Given the description of an element on the screen output the (x, y) to click on. 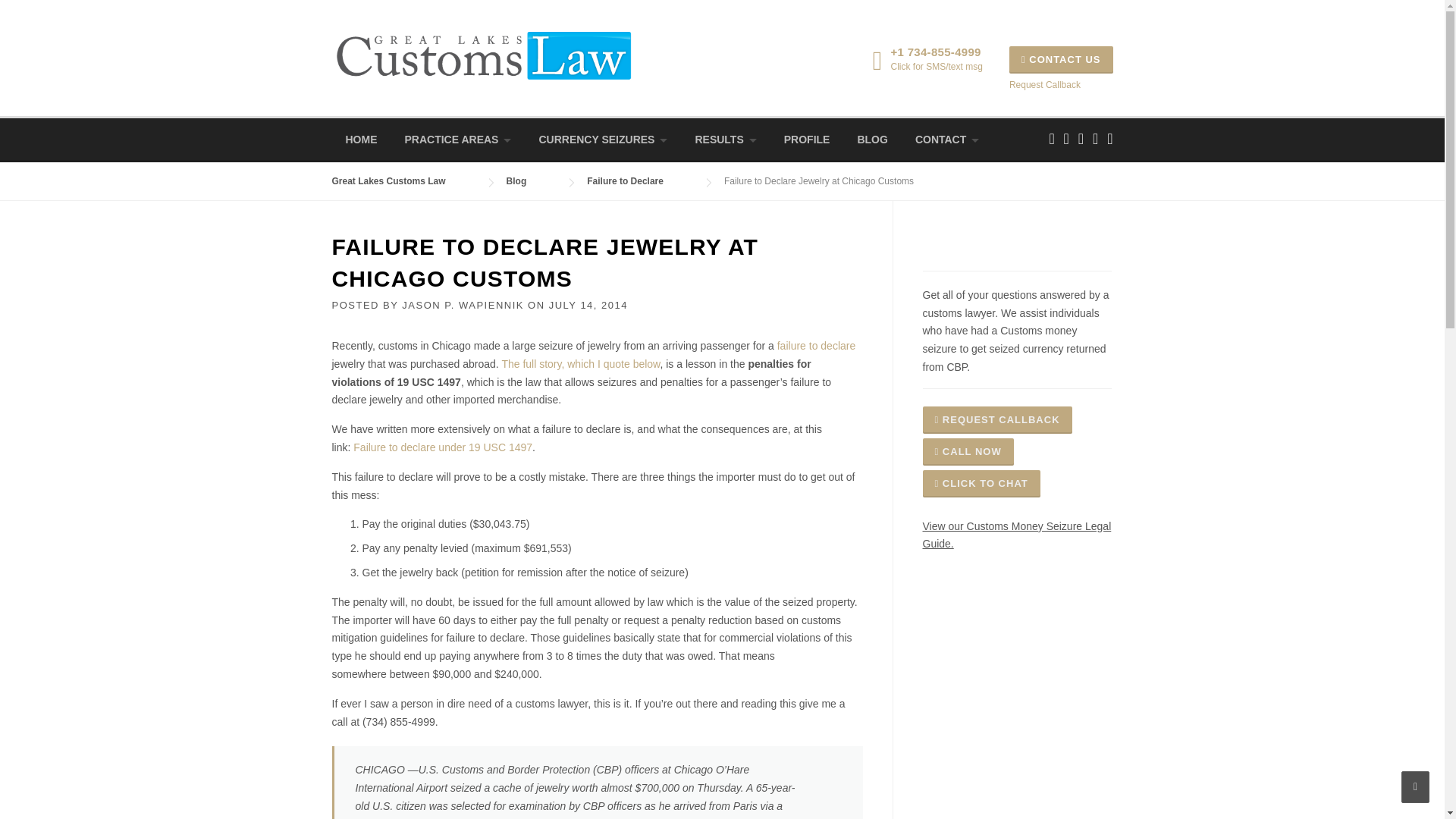
Go to Blog. (531, 181)
Great Lakes Customs Law (482, 54)
PRACTICE AREAS (458, 139)
Request Callback (1044, 84)
CONTACT US (1061, 59)
HOME (361, 139)
Go to Great Lakes Customs Law. (403, 181)
Go to the Failure to Declare category archives. (640, 181)
CURRENCY SEIZURES (602, 139)
